Given the description of an element on the screen output the (x, y) to click on. 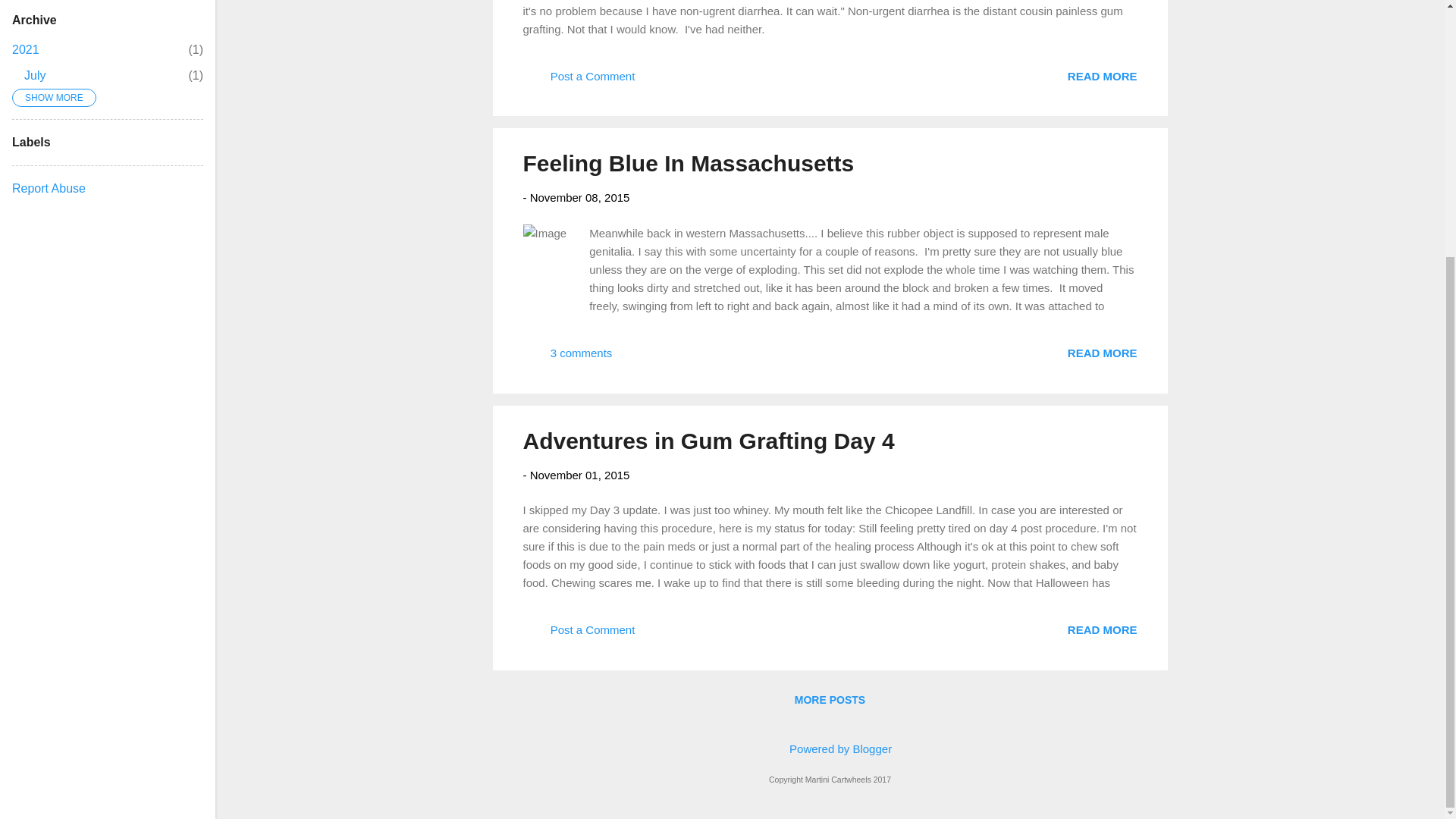
Feeling Blue In Massachusetts (25, 49)
MORE POSTS (34, 74)
Post a Comment (688, 163)
November 01, 2015 (829, 699)
READ MORE (578, 634)
No Toilet? No Worries. (579, 473)
READ MORE (1102, 352)
Powered by Blogger (1102, 74)
